Given the description of an element on the screen output the (x, y) to click on. 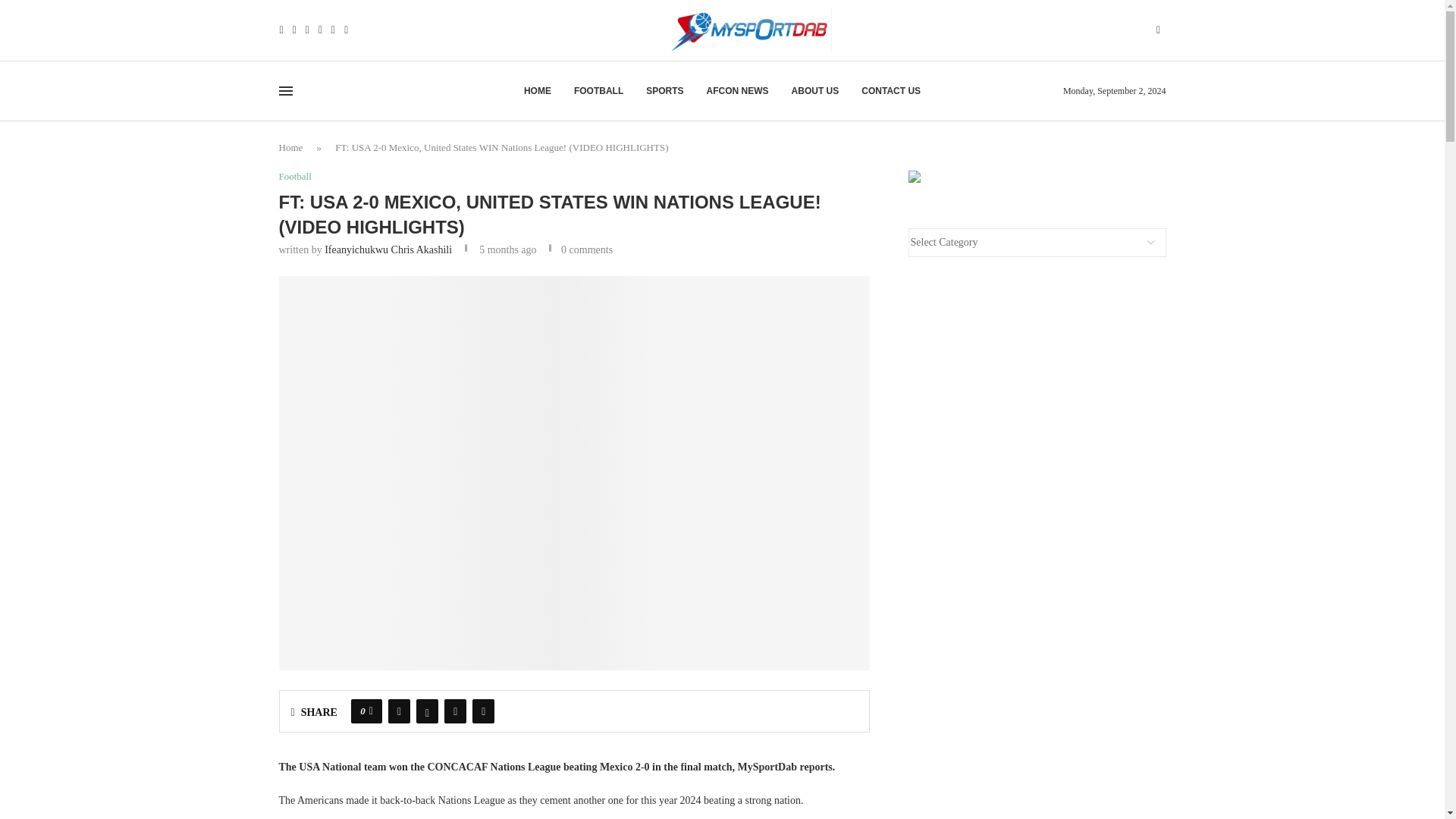
ABOUT US (816, 90)
FOOTBALL (598, 90)
AFCON NEWS (737, 90)
CONTACT US (890, 90)
